Given the description of an element on the screen output the (x, y) to click on. 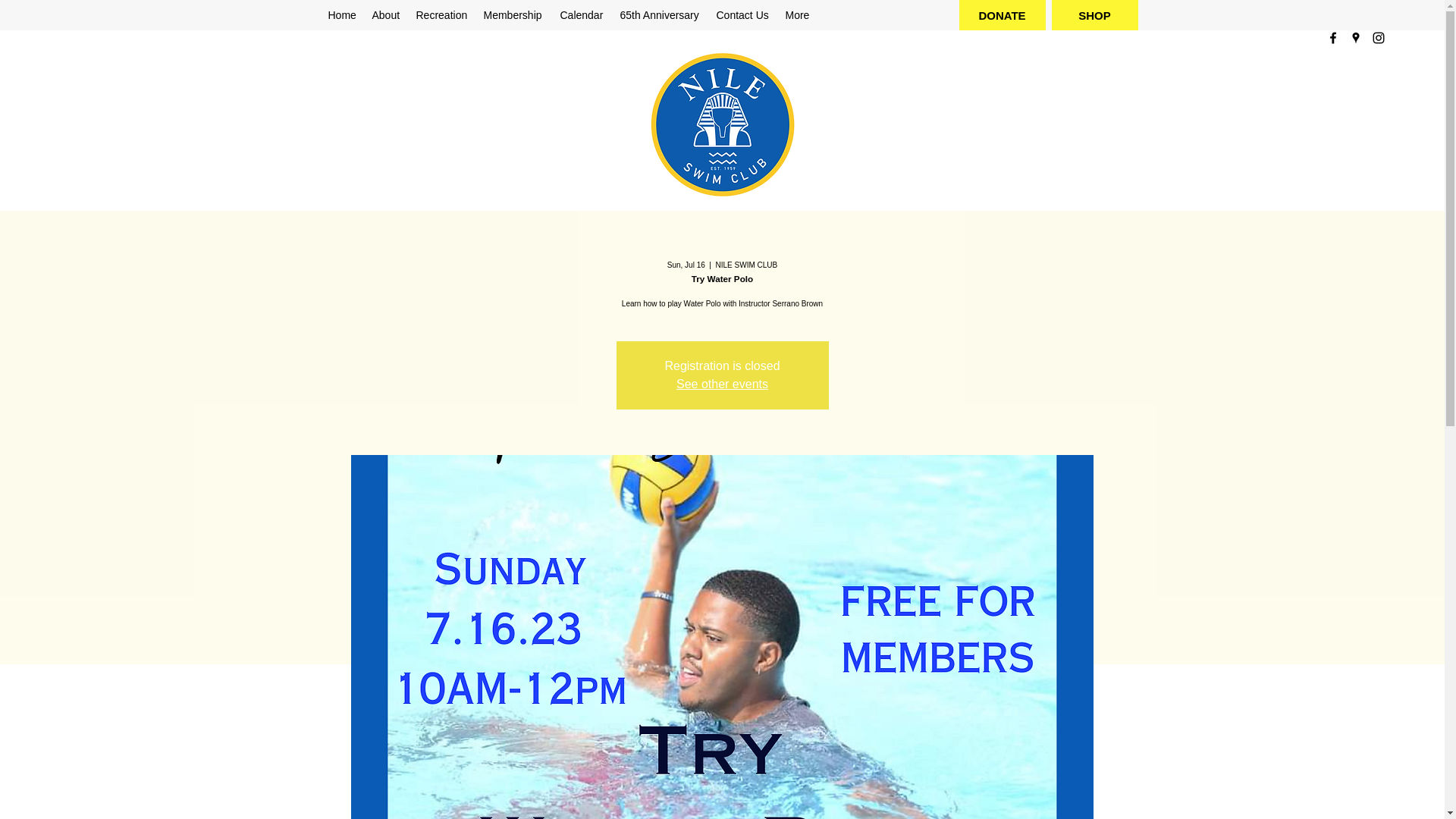
Calendar (581, 15)
DONATE (1001, 15)
Membership (514, 15)
65th Anniversary (660, 15)
Recreation (441, 15)
SHOP (1094, 15)
About (385, 15)
Home (342, 15)
See other events (722, 383)
Contact Us (742, 15)
